Given the description of an element on the screen output the (x, y) to click on. 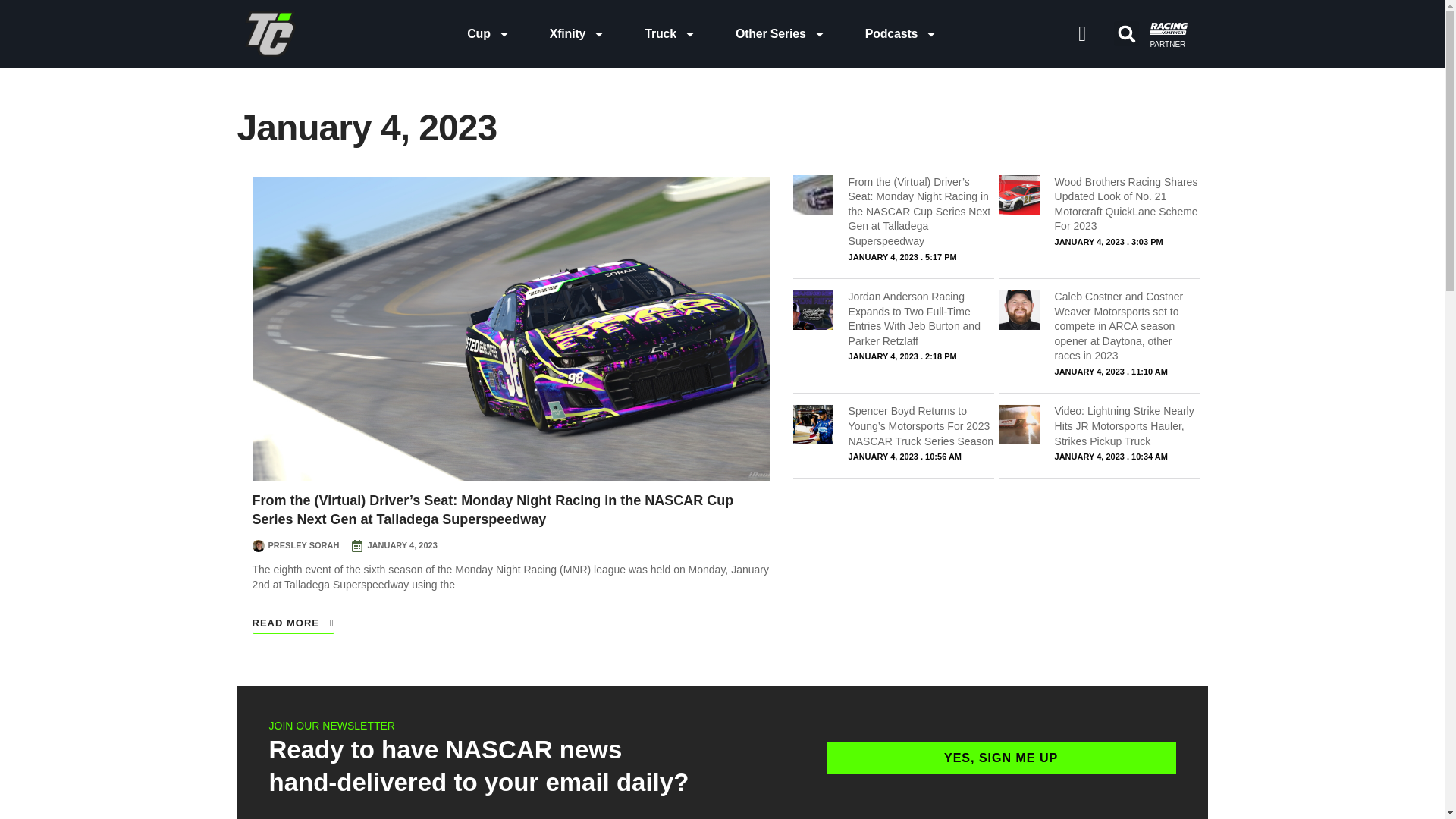
Truck (670, 33)
Xfinity (577, 33)
Cup (489, 33)
